Given the description of an element on the screen output the (x, y) to click on. 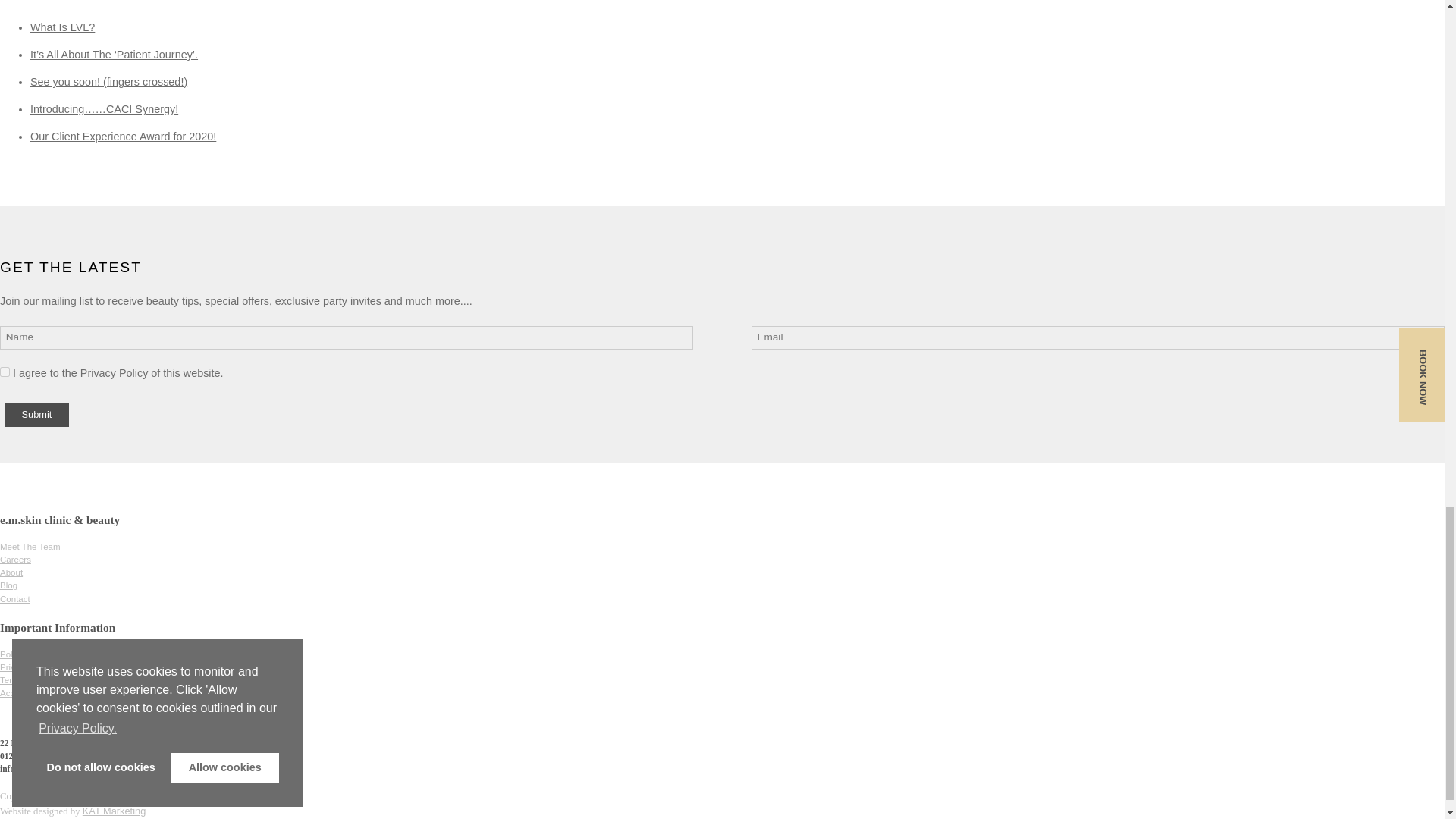
1 (5, 371)
Submit (36, 414)
Name (346, 337)
